Given the description of an element on the screen output the (x, y) to click on. 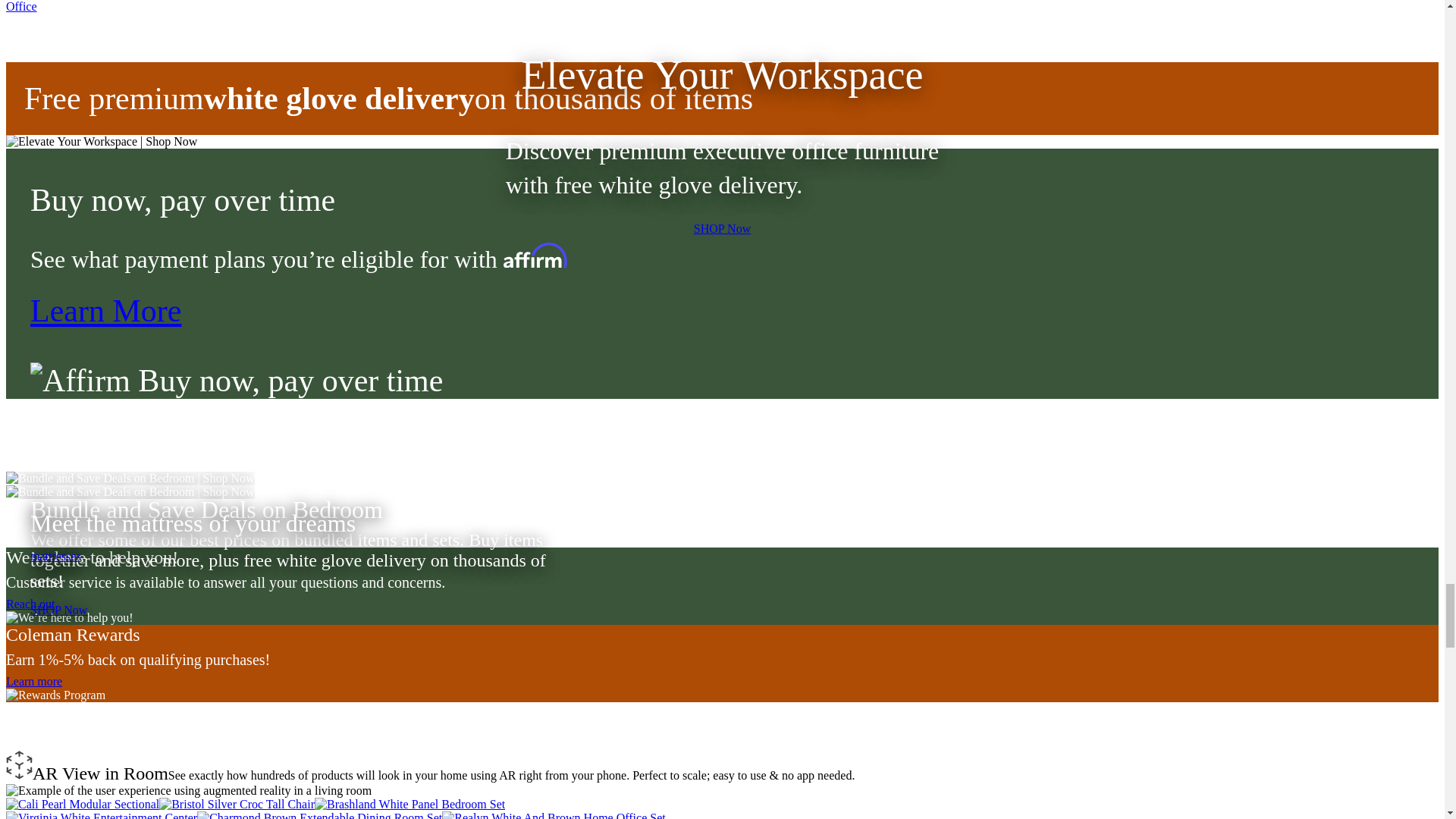
Bristol Silver Croc Tall Chair by TOV Furniture (236, 803)
Cali Pearl Modular Sectional by Coleman Furniture (81, 803)
Brashland White Panel Bedroom Set by Ashley Furniture (409, 803)
Affirm Learn More (105, 310)
